Given the description of an element on the screen output the (x, y) to click on. 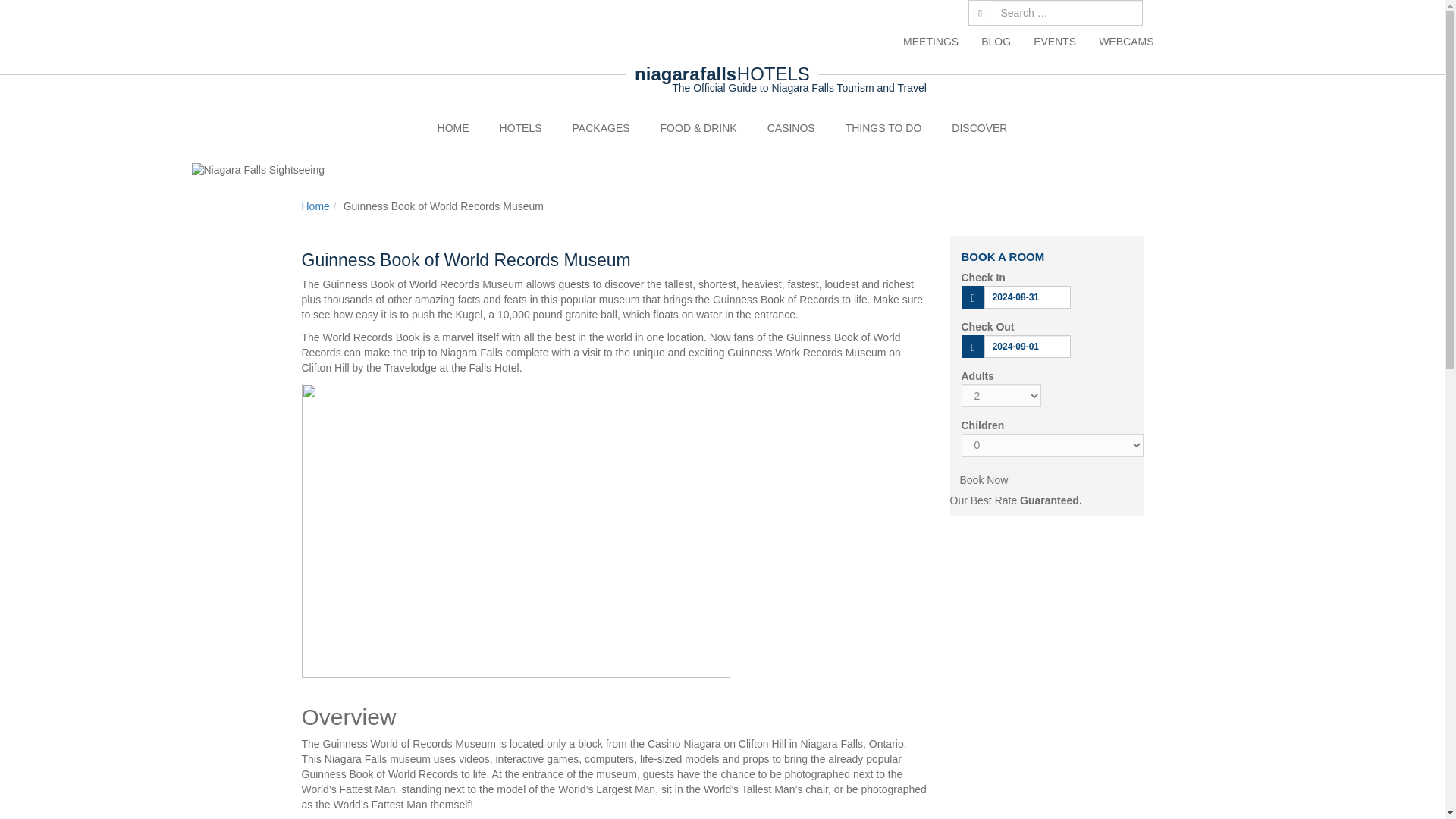
BLOG (995, 41)
Niagara Falls Hotels (520, 127)
2024-09-01 (1027, 345)
WEBCAMS (1120, 41)
niagara falls HOTELS (722, 73)
EVENTS (1054, 41)
Niagara Falls Blog (995, 41)
MEETINGS (930, 41)
2024-08-31 (1027, 296)
Niagara Falls Attractions (883, 127)
